Given the description of an element on the screen output the (x, y) to click on. 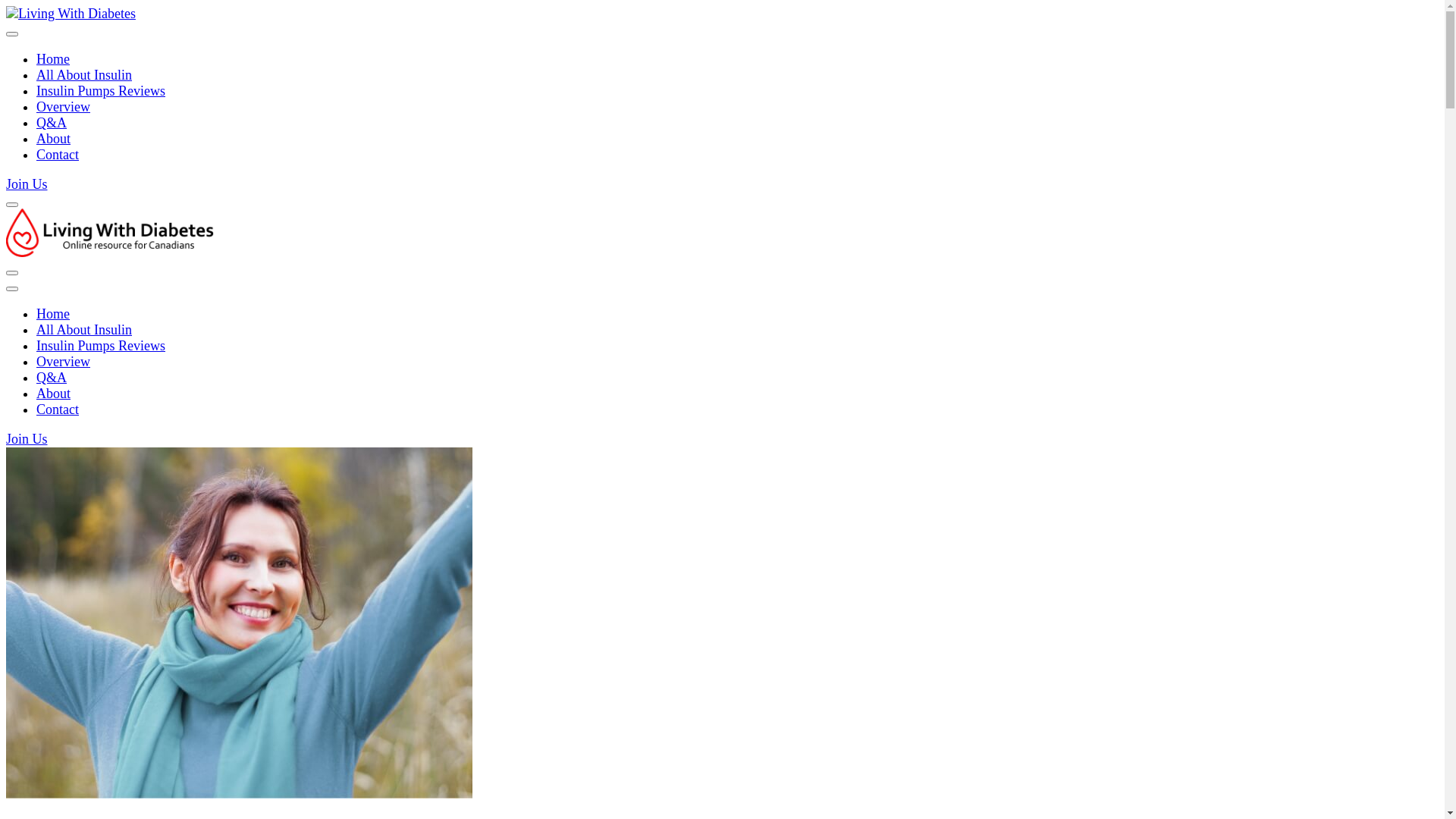
About Element type: text (53, 138)
Insulin Pumps Reviews Element type: text (100, 90)
Contact Element type: text (57, 154)
Home Element type: text (52, 58)
Q&A Element type: text (51, 377)
Skip to content (Press Enter) Element type: text (5, 5)
All About Insulin Element type: text (83, 329)
Living With Diabetes Element type: text (113, 291)
Overview Element type: text (63, 106)
Overview Element type: text (63, 361)
Q&A Element type: text (51, 122)
Join Us Element type: text (26, 438)
Living With Diabetes Element type: text (113, 52)
Contact Element type: text (57, 409)
About Element type: text (53, 393)
Join Us Element type: text (26, 183)
Home Element type: text (52, 313)
All About Insulin Element type: text (83, 74)
Insulin Pumps Reviews Element type: text (100, 345)
